Given the description of an element on the screen output the (x, y) to click on. 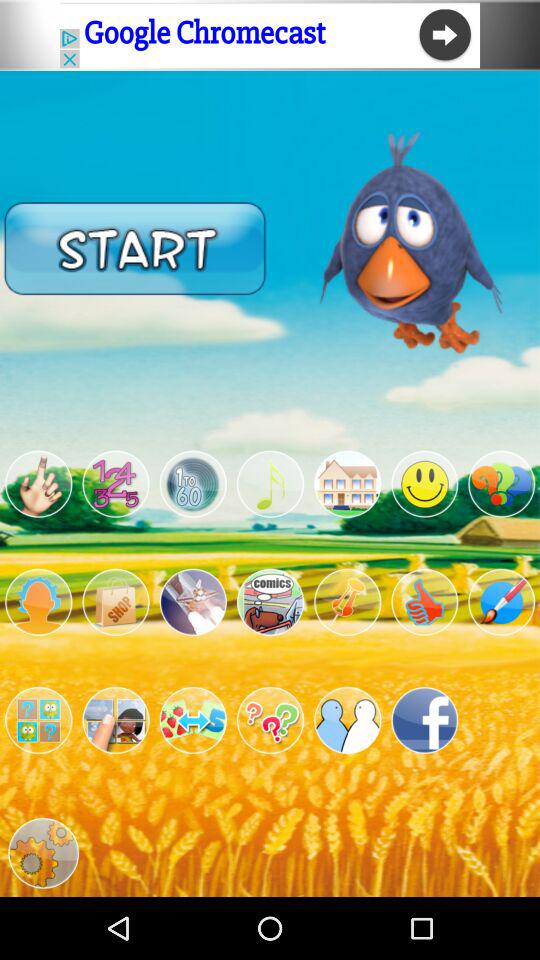
show profile (38, 602)
